Given the description of an element on the screen output the (x, y) to click on. 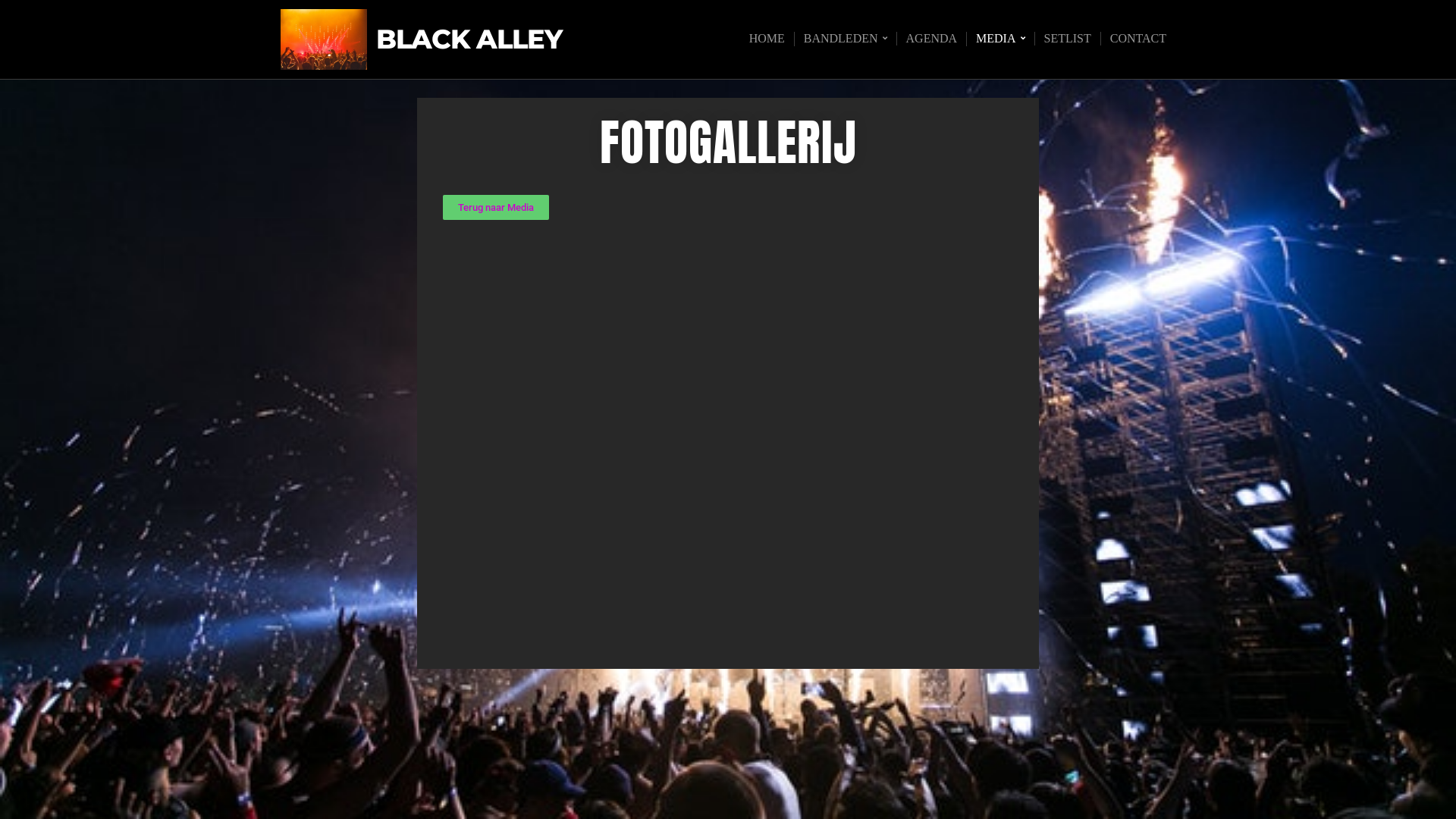
MEDIA Element type: text (999, 38)
CONTACT Element type: text (1137, 38)
SETLIST Element type: text (1067, 38)
AGENDA Element type: text (931, 38)
HOME Element type: text (766, 38)
BANDLEDEN Element type: text (844, 38)
Terug naar Media Element type: text (495, 206)
BLACK ALLEY Element type: text (468, 39)
